Given the description of an element on the screen output the (x, y) to click on. 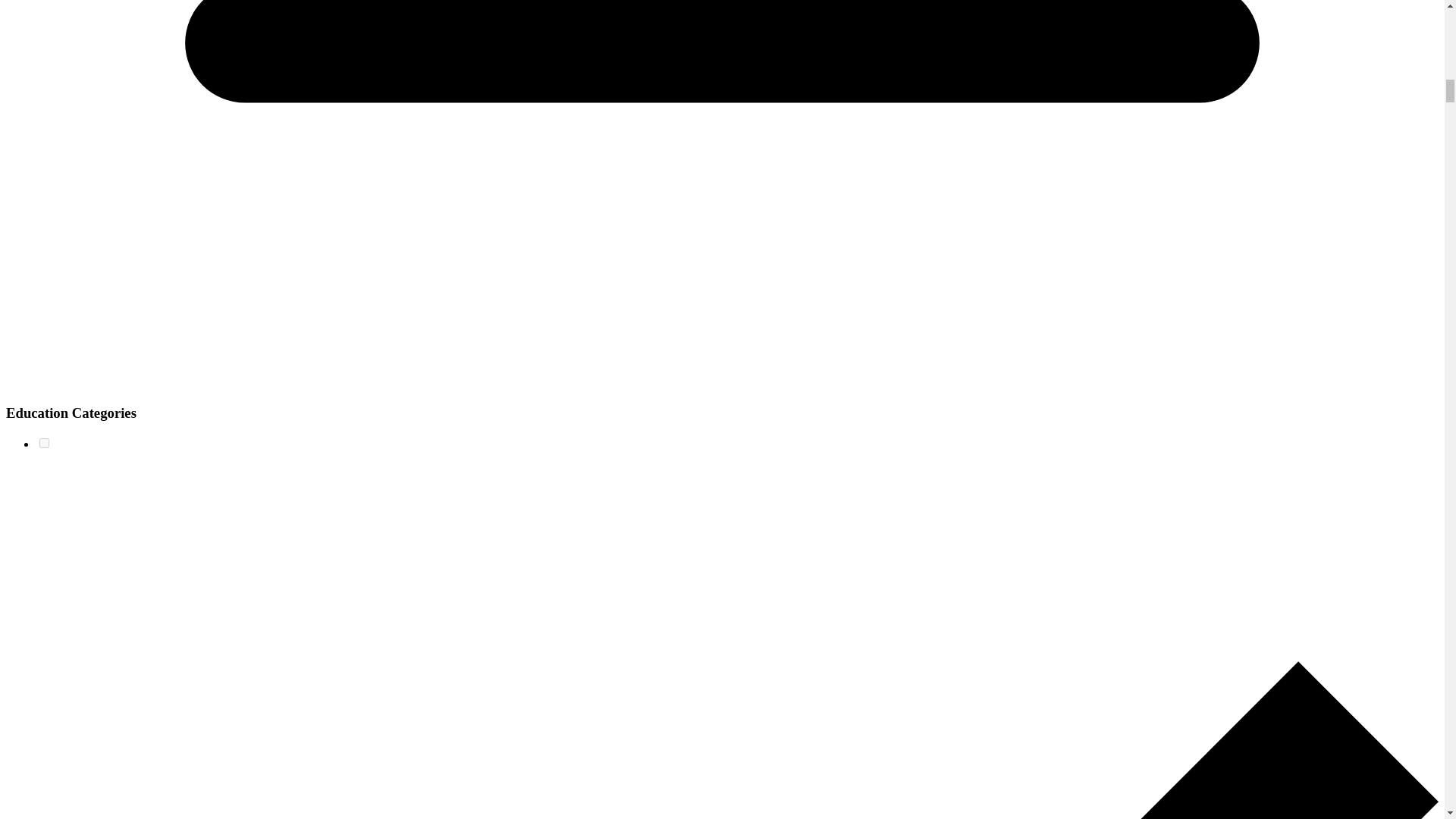
77 (44, 442)
